Given the description of an element on the screen output the (x, y) to click on. 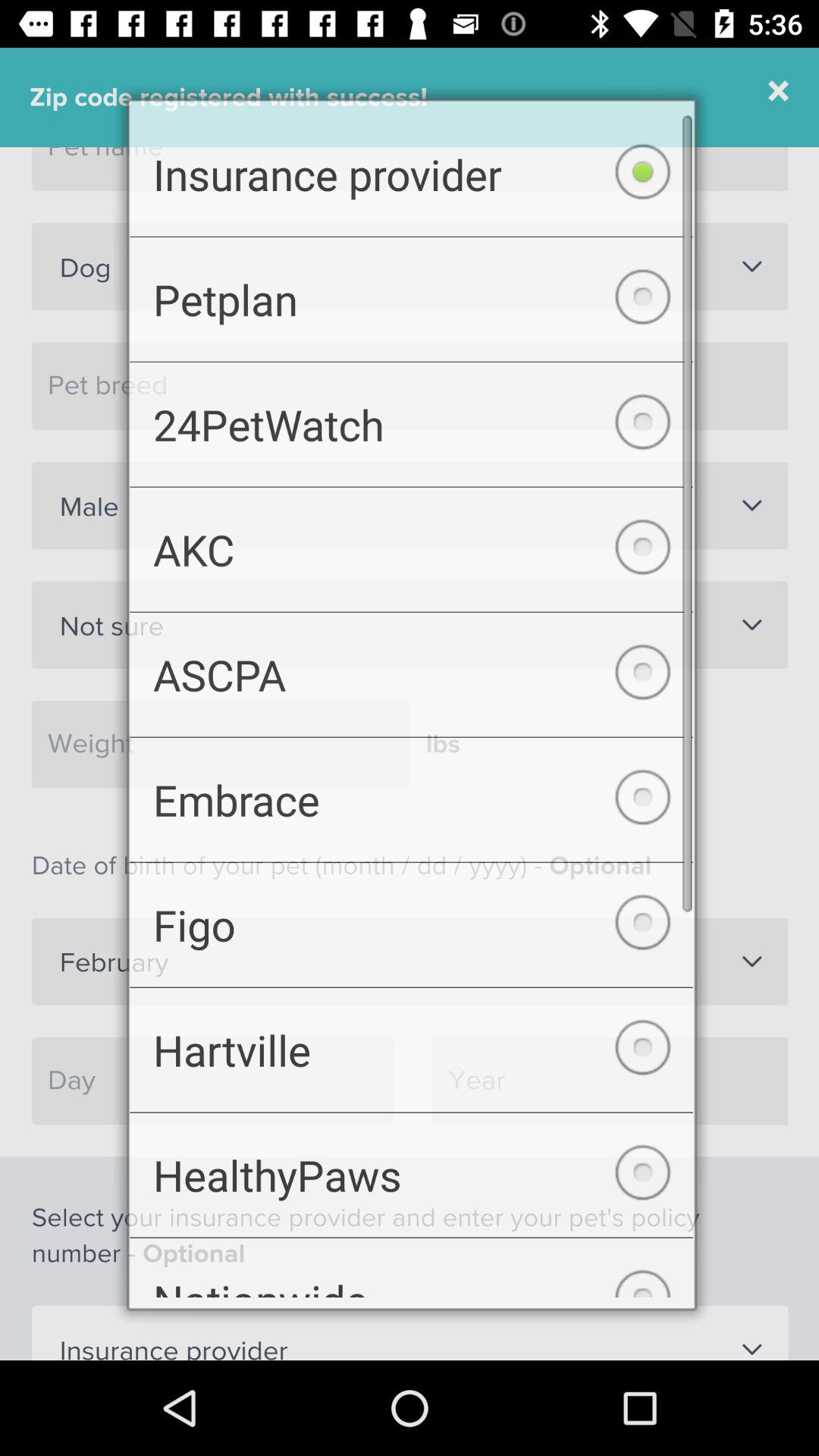
swipe until the akc item (411, 545)
